Given the description of an element on the screen output the (x, y) to click on. 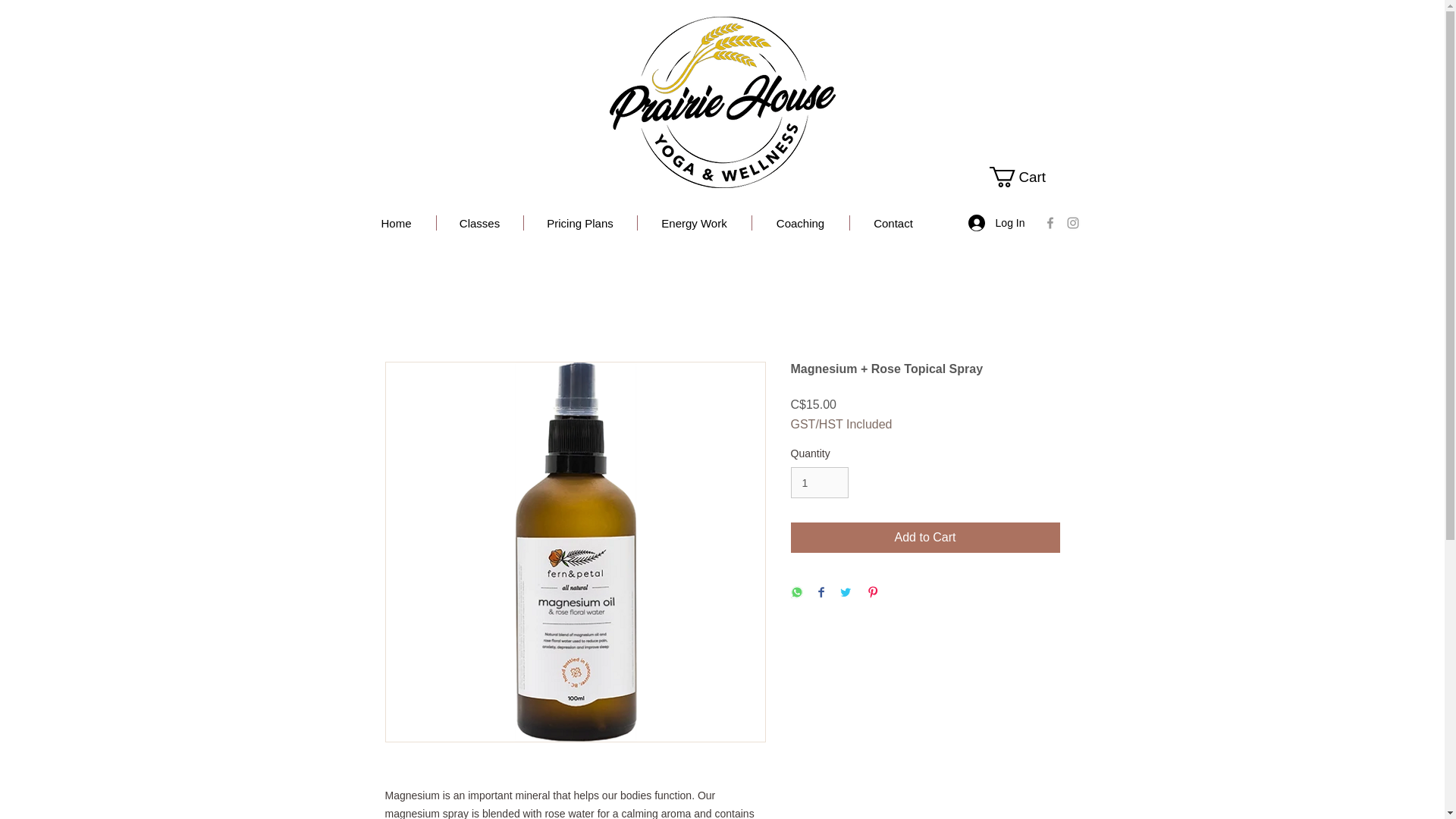
Cart (1026, 177)
Log In (996, 222)
Cart (1026, 177)
Pricing Plans (579, 222)
Classes (479, 222)
Coaching (800, 222)
Energy Work (694, 222)
Contact (892, 222)
Add to Cart (924, 537)
1 (818, 481)
Home (395, 222)
